Given the description of an element on the screen output the (x, y) to click on. 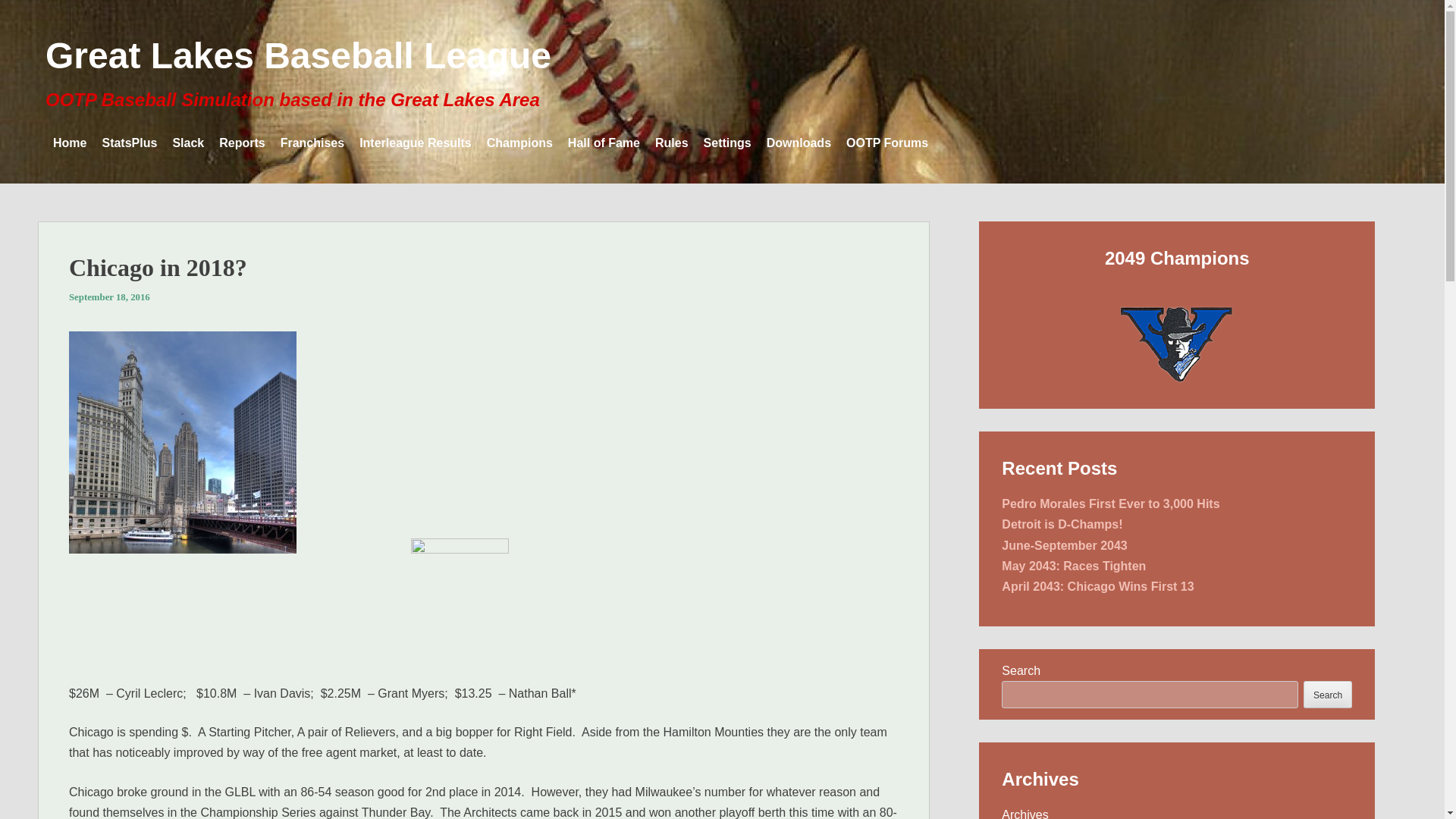
Settings (727, 142)
September 18, 2016 (108, 296)
Search (1327, 693)
Rules (671, 142)
April 2043: Chicago Wins First 13 (1097, 585)
Pedro Morales First Ever to 3,000 Hits (1110, 503)
Home (68, 142)
Slack (187, 142)
June-September 2043 (1063, 545)
OOTP Forums (886, 142)
Champions (519, 142)
May 2043: Races Tighten (1073, 565)
StatsPlus (129, 142)
Hall of Fame (603, 142)
Great Lakes Baseball League (298, 56)
